Given the description of an element on the screen output the (x, y) to click on. 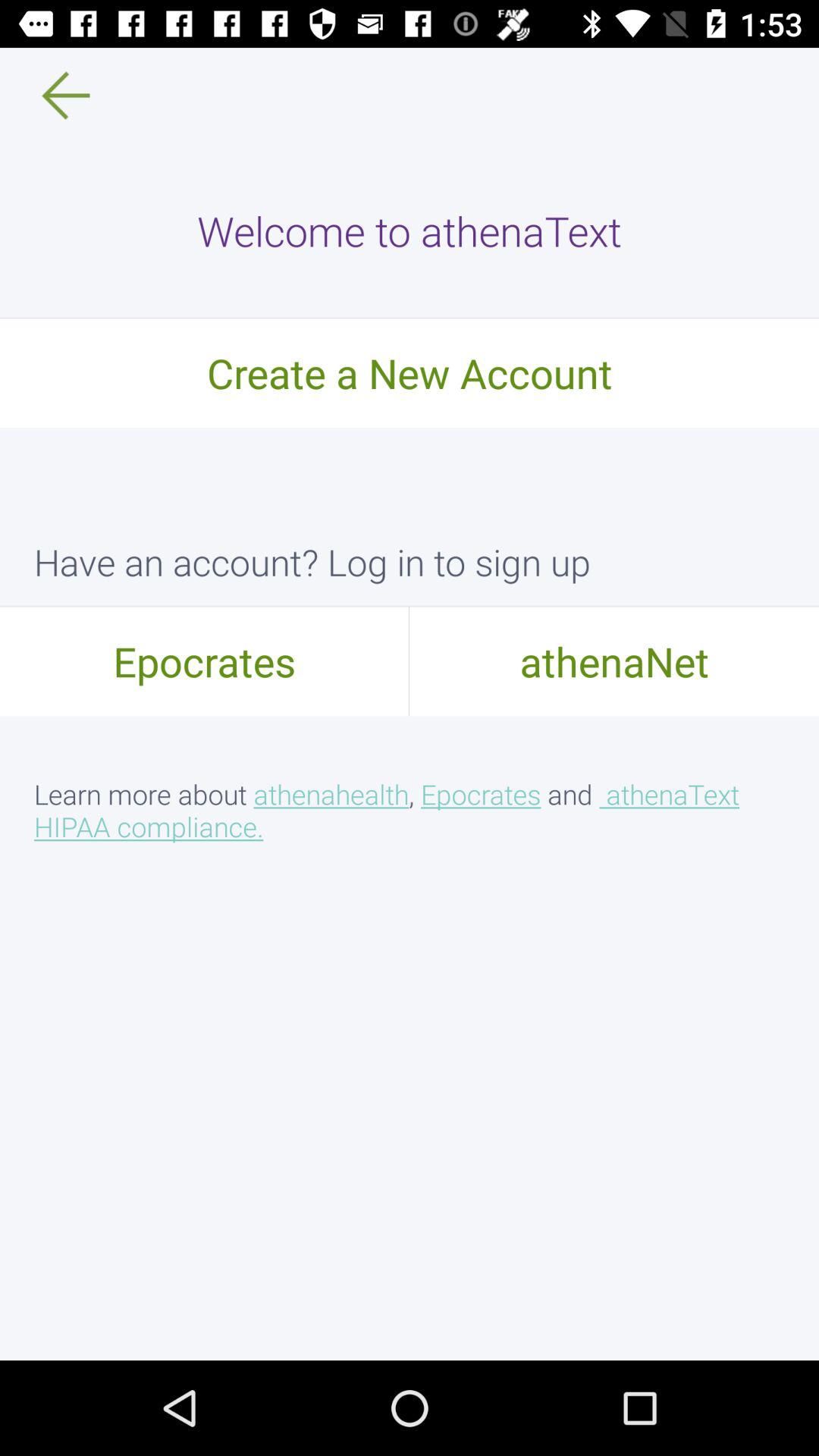
choose the item below epocrates item (409, 810)
